Given the description of an element on the screen output the (x, y) to click on. 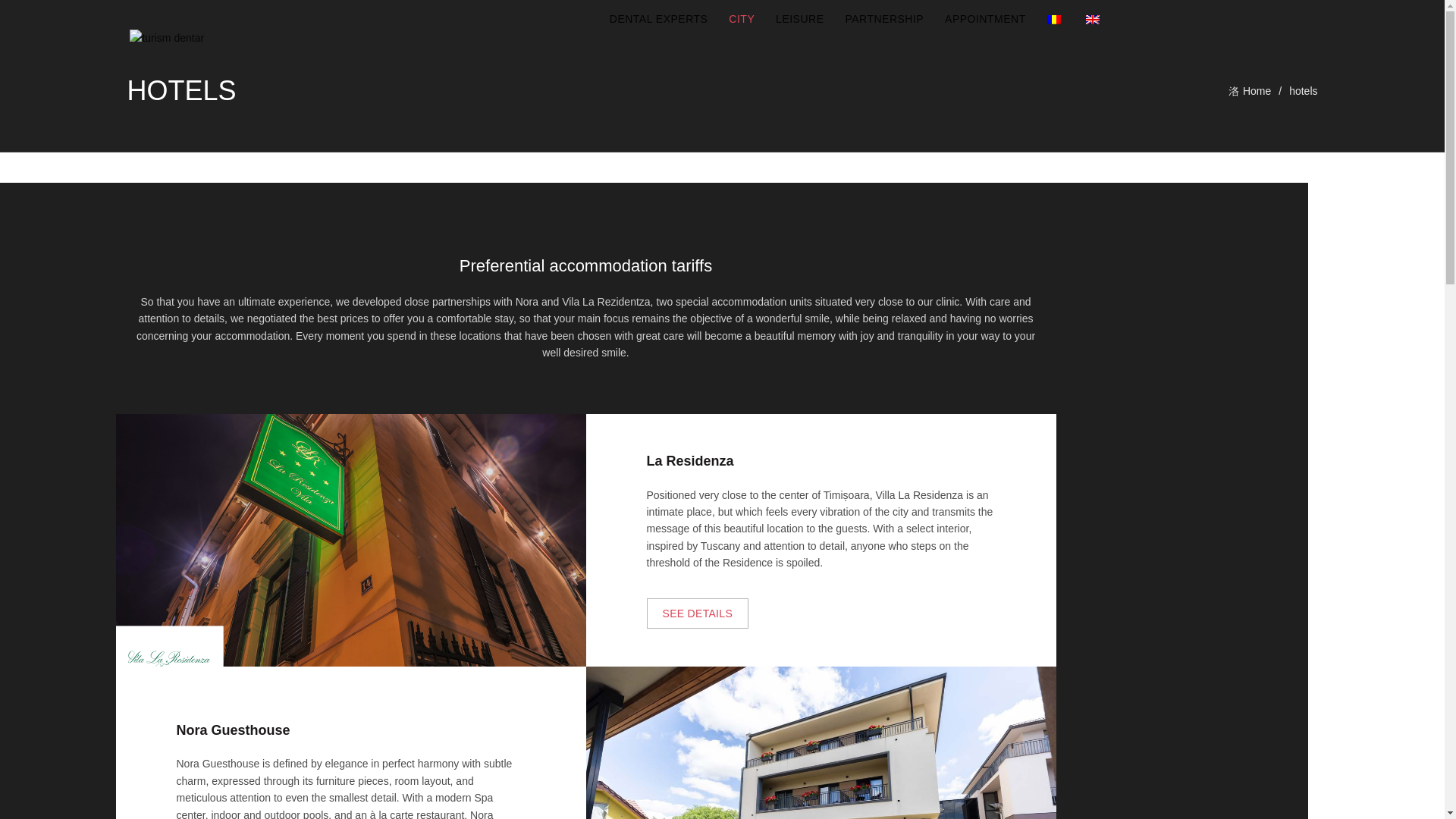
Home (1258, 91)
PARTNERSHIP (883, 18)
DENTAL EXPERTS (658, 18)
SEE DETAILS (697, 612)
APPOINTMENT (984, 18)
CITY (741, 18)
Vezi detalii (697, 612)
LEISURE (798, 18)
